Given the description of an element on the screen output the (x, y) to click on. 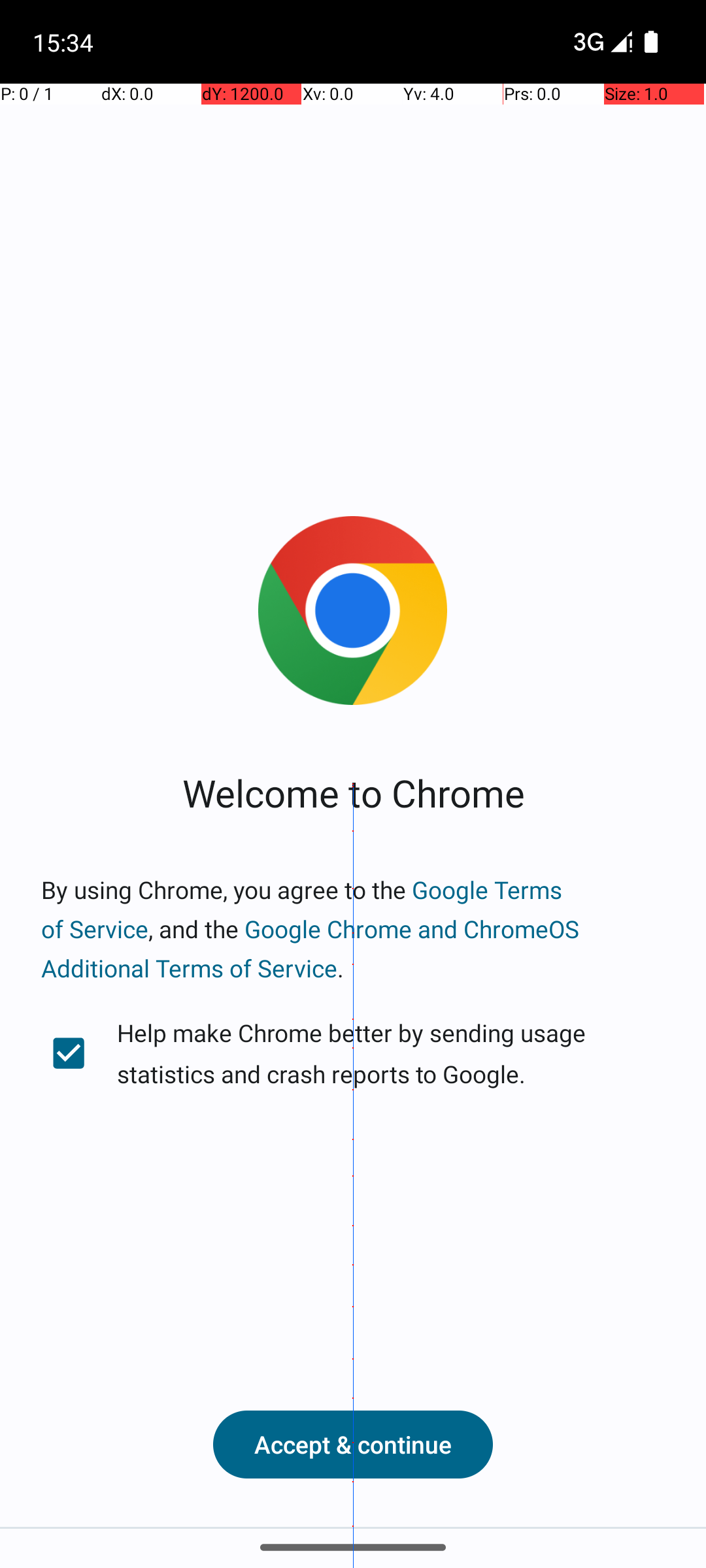
Accept & continue Element type: android.widget.Button (352, 1444)
By using Chrome, you agree to the Google Terms of Service, and the Google Chrome and ChromeOS Additional Terms of Service. Element type: android.widget.TextView (352, 928)
Help make Chrome better by sending usage statistics and crash reports to Google. Element type: android.widget.CheckBox (352, 1053)
